Given the description of an element on the screen output the (x, y) to click on. 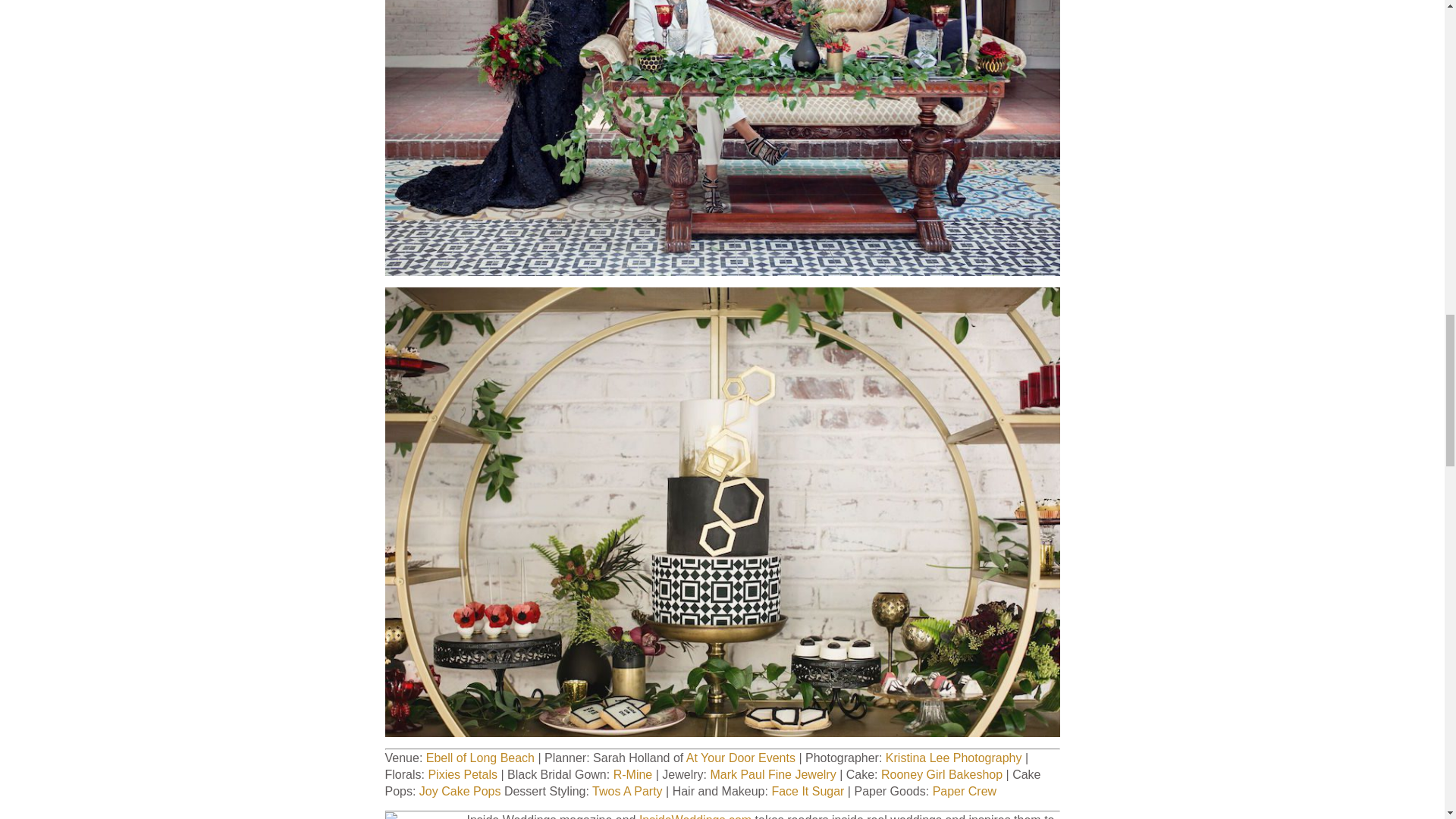
Kristina Lee Photography (953, 757)
Pixies Petals (462, 774)
Face It Sugar (807, 790)
InsideWeddings.com (695, 816)
Joy Cake Pops (459, 790)
Rooney Girl Bakeshop (941, 774)
At Your Door Events (739, 757)
 R-Mine (631, 774)
Twos A Party (627, 790)
Inside Weddings Magazine  (419, 815)
